Given the description of an element on the screen output the (x, y) to click on. 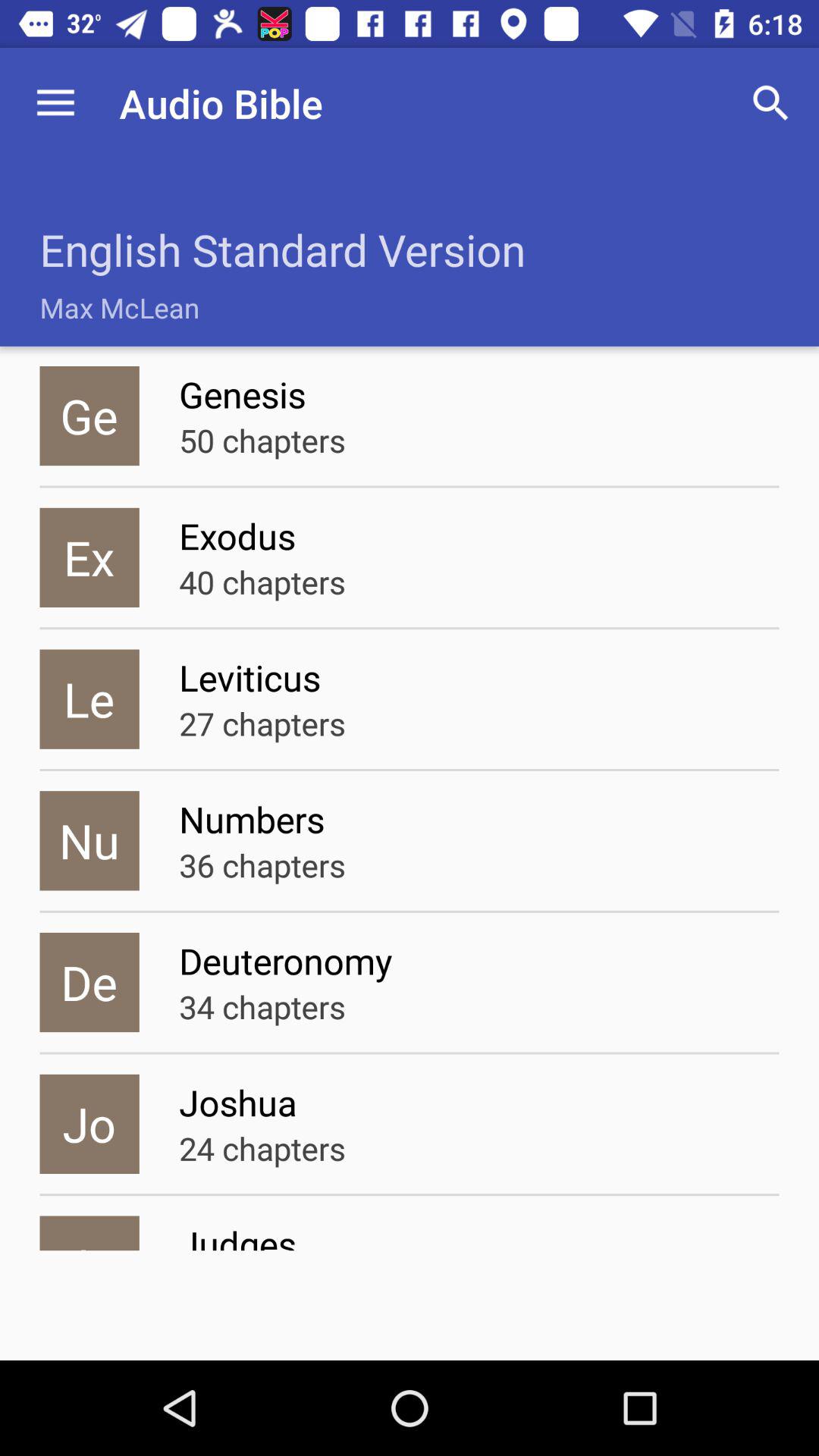
select the 34 chapters (262, 1006)
